Given the description of an element on the screen output the (x, y) to click on. 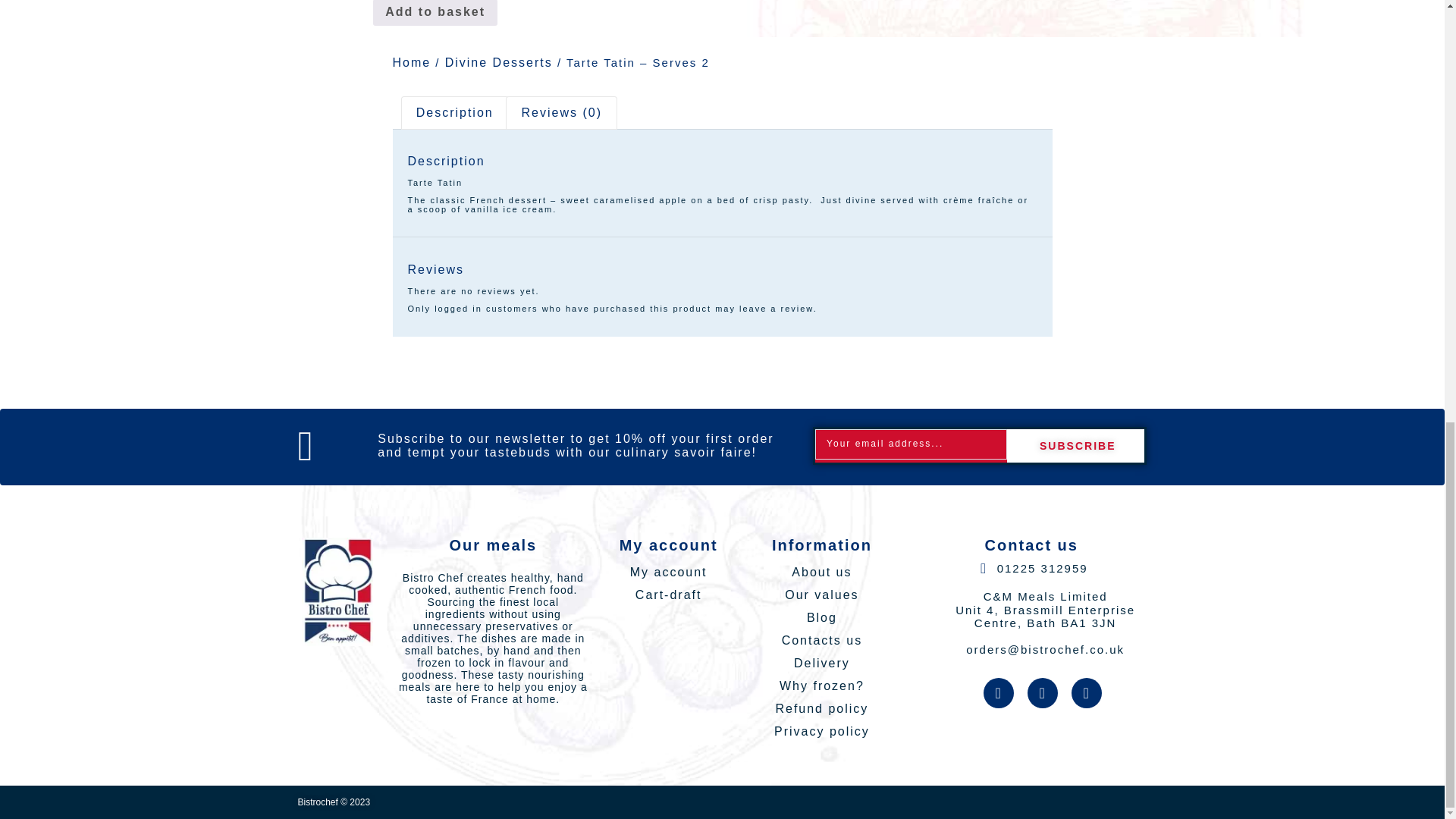
My account (667, 572)
Description (454, 112)
Why frozen? (821, 685)
SUBSCRIBE (1075, 445)
Our values (821, 594)
Divine Desserts (499, 62)
About us (821, 572)
Delivery (821, 662)
Home (411, 62)
Blog (821, 617)
